Given the description of an element on the screen output the (x, y) to click on. 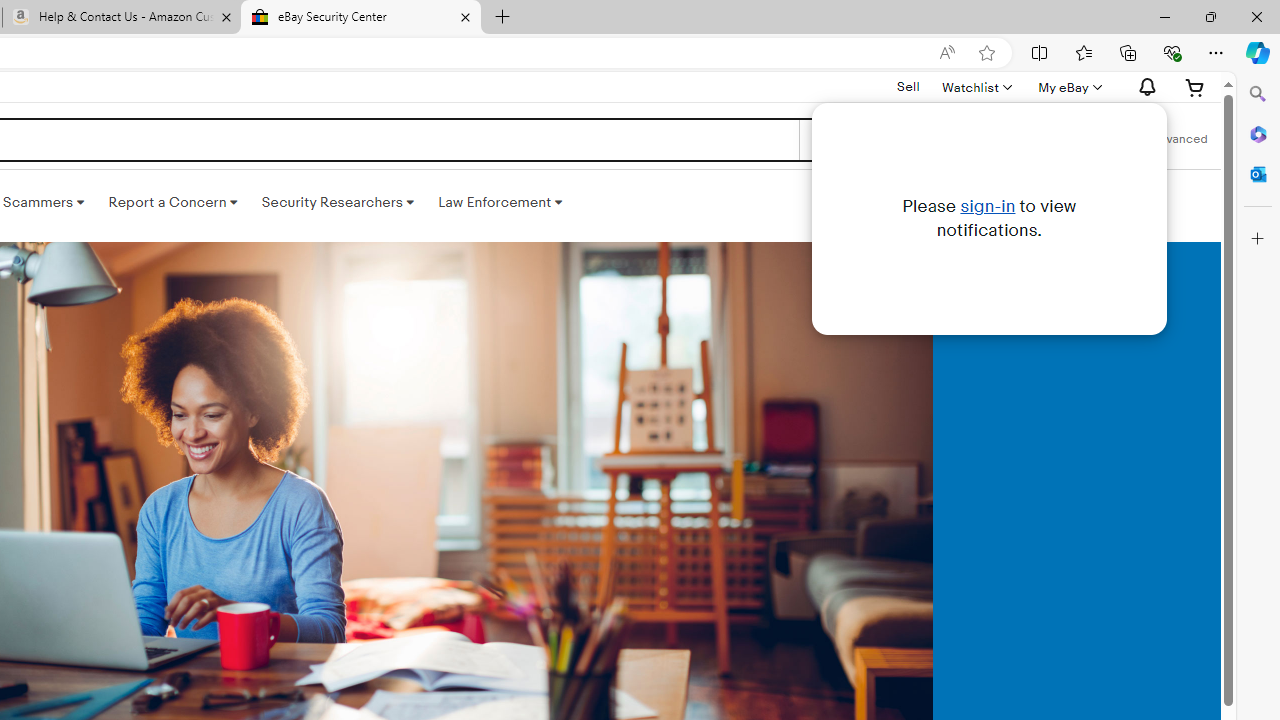
Select a category for search (877, 139)
Report a Concern  (173, 202)
Law Enforcement  (500, 202)
My eBayExpand My eBay (1068, 87)
Sell (907, 86)
Advanced Search (1179, 139)
Watchlist (975, 87)
My eBay (1068, 87)
